Given the description of an element on the screen output the (x, y) to click on. 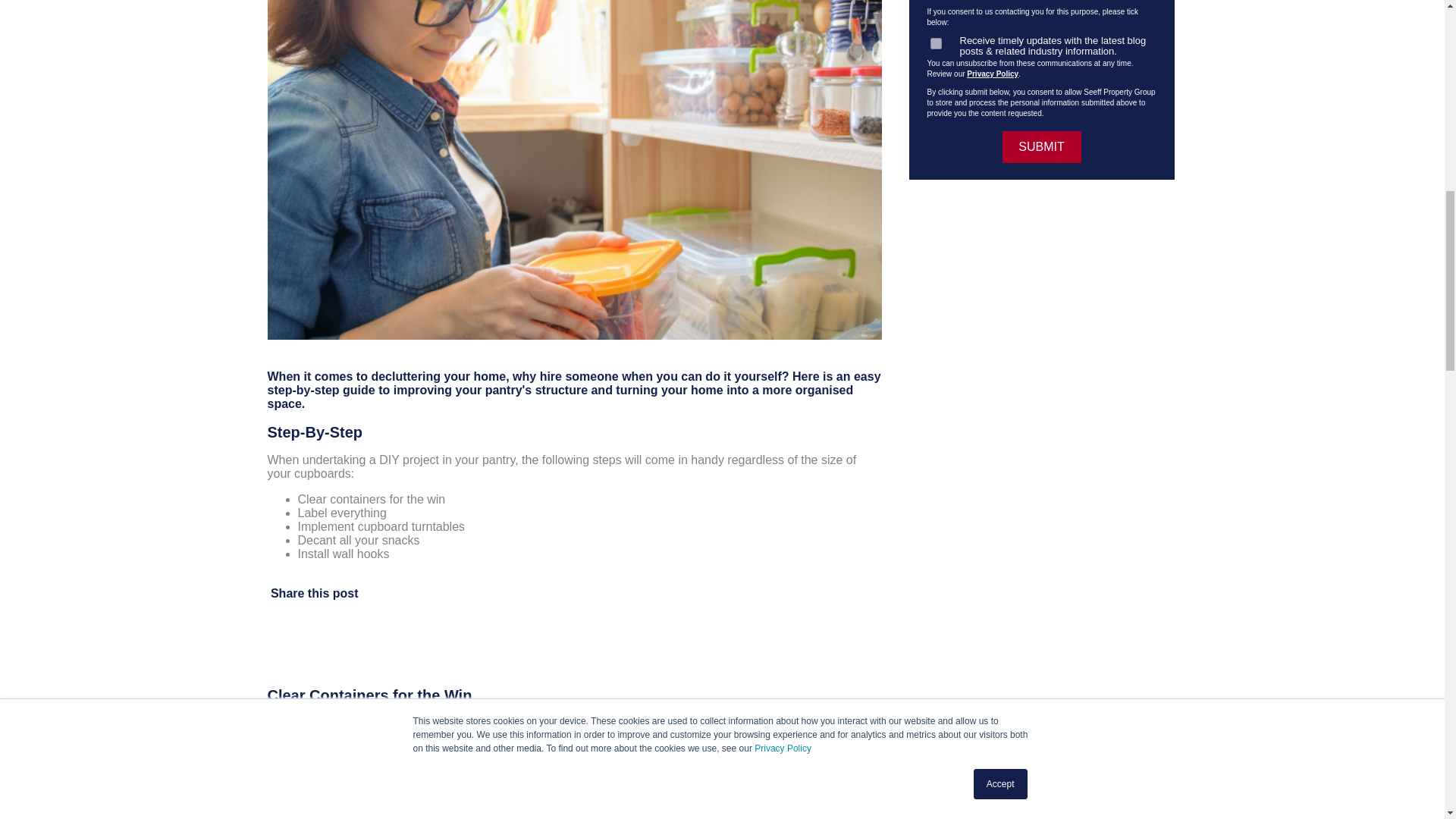
Home2Home initiative (729, 762)
true (935, 43)
Submit (1042, 146)
Submit (1042, 146)
Privacy Policy (991, 73)
